Given the description of an element on the screen output the (x, y) to click on. 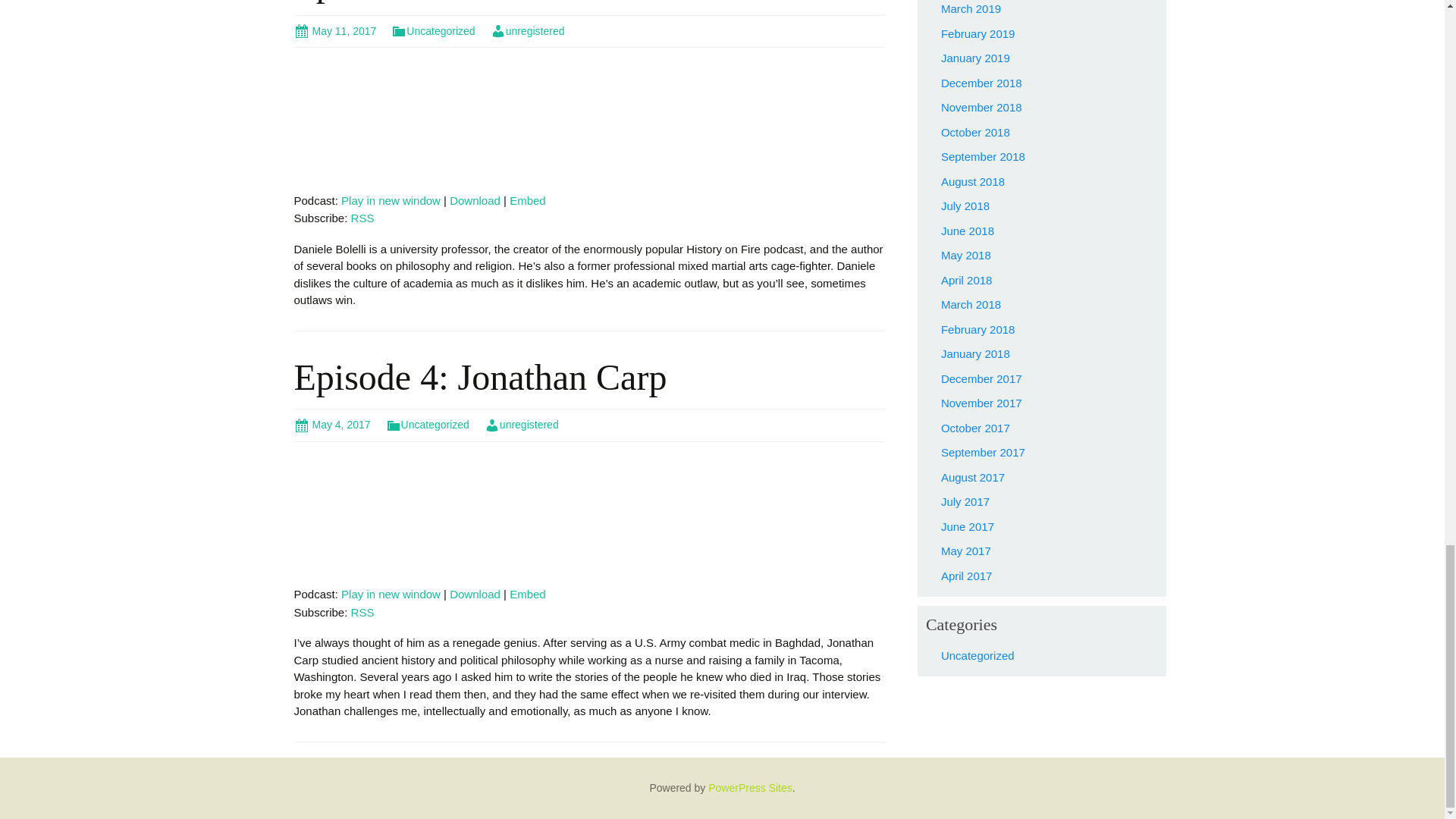
Uncategorized (426, 424)
unregistered (527, 30)
Episode 4: Jonathan Carp (480, 377)
Download (474, 200)
May 11, 2017 (335, 30)
RSS (362, 217)
May 4, 2017 (332, 424)
Play in new window (390, 200)
Uncategorized (432, 30)
